Given the description of an element on the screen output the (x, y) to click on. 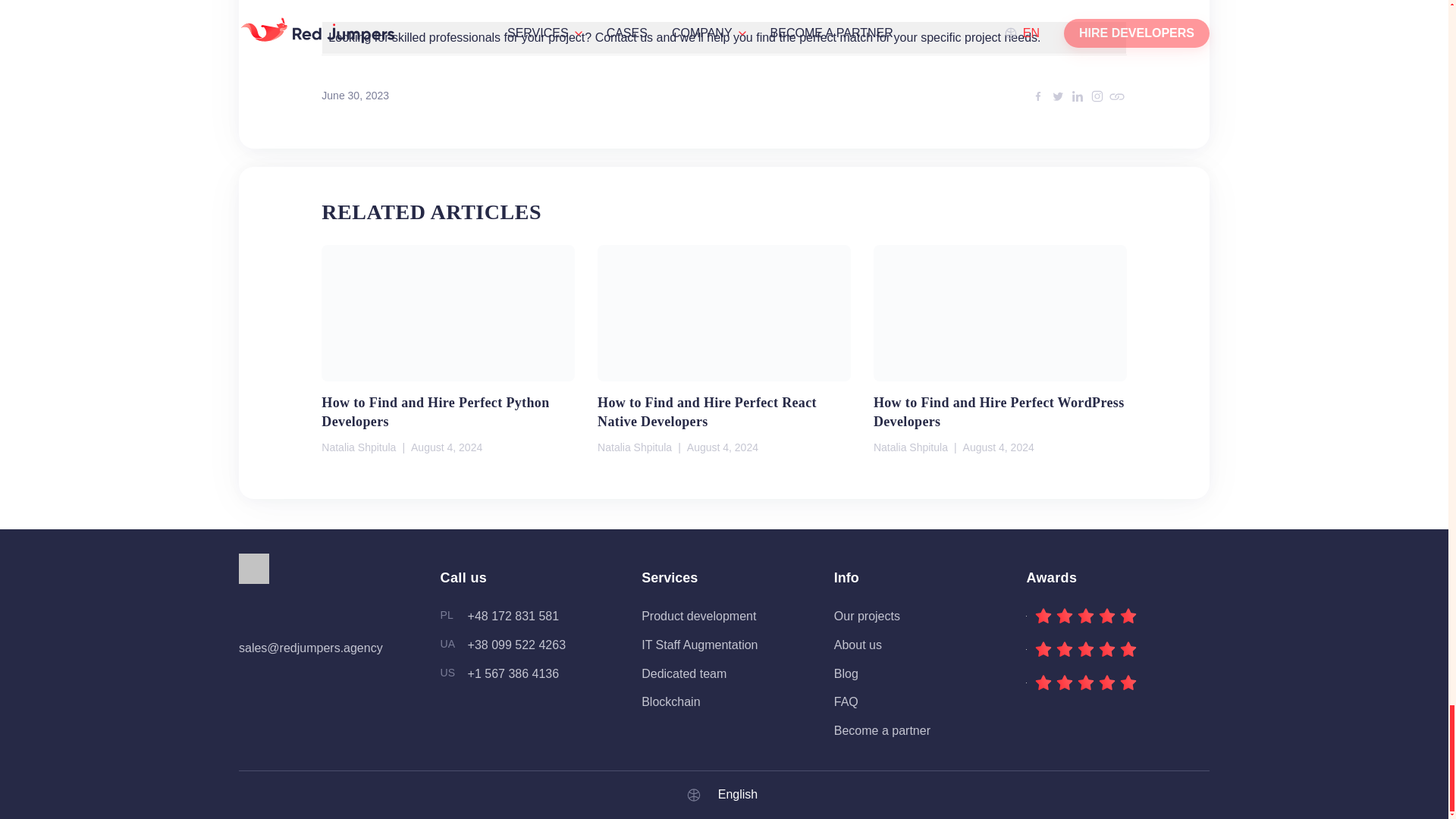
Twitter (1057, 95)
Contact us (623, 37)
Instagram (1097, 95)
Facebook (1037, 95)
Linkedin (1077, 95)
Copy Link (1116, 95)
